Given the description of an element on the screen output the (x, y) to click on. 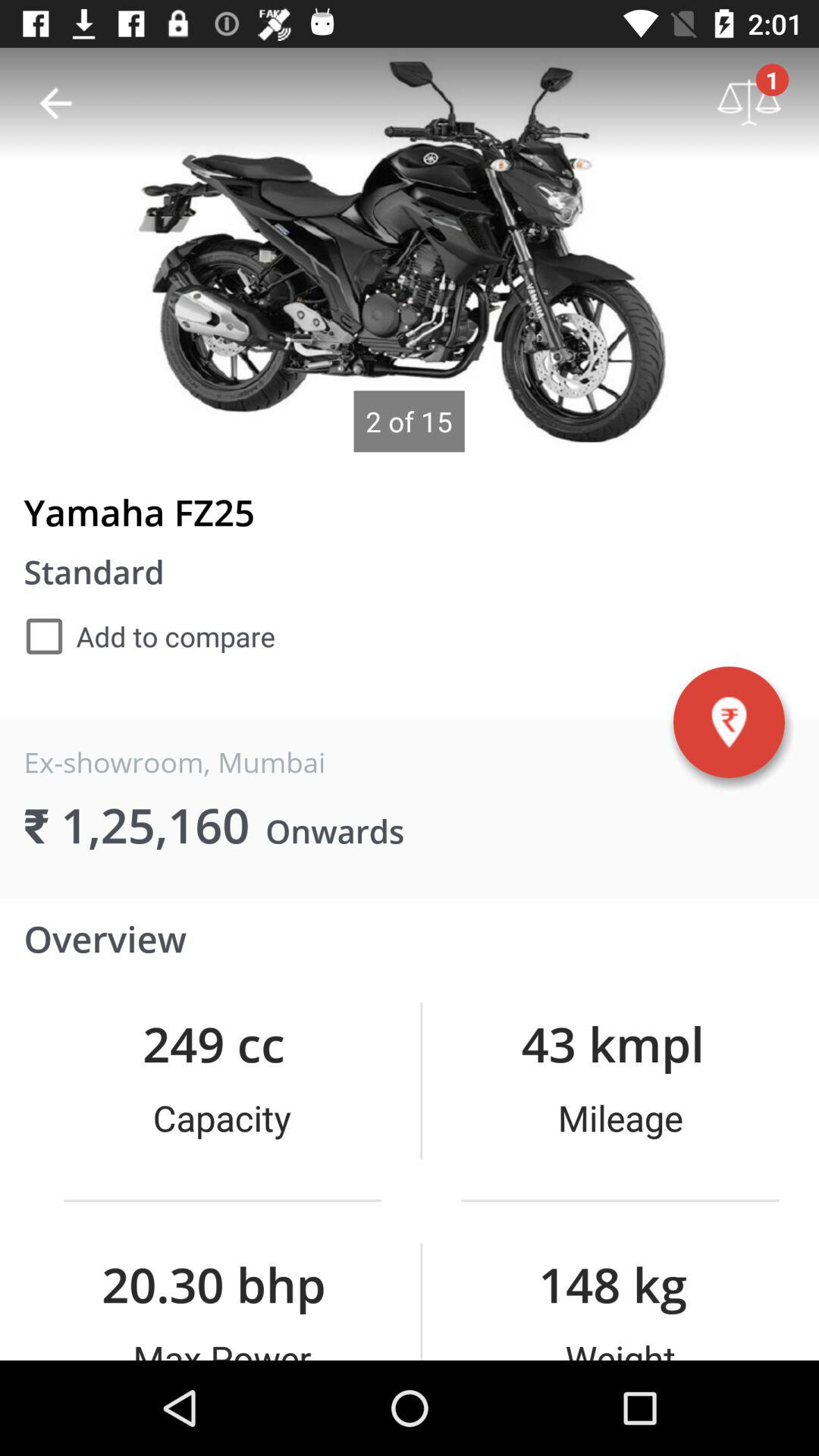
click the icon at the top left corner (55, 103)
